Given the description of an element on the screen output the (x, y) to click on. 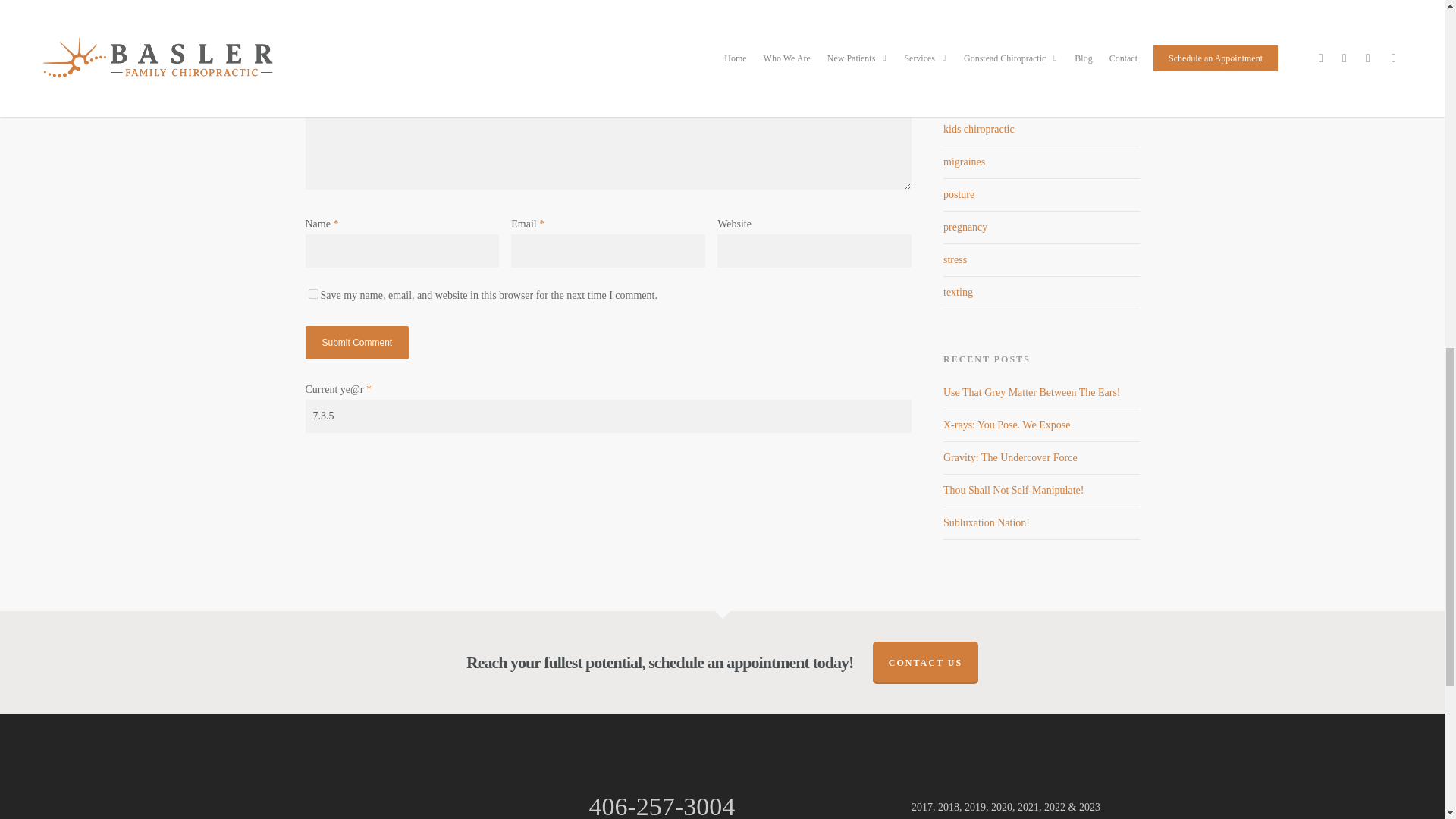
yes (312, 293)
Submit Comment (356, 342)
7.3.5 (607, 416)
